Given the description of an element on the screen output the (x, y) to click on. 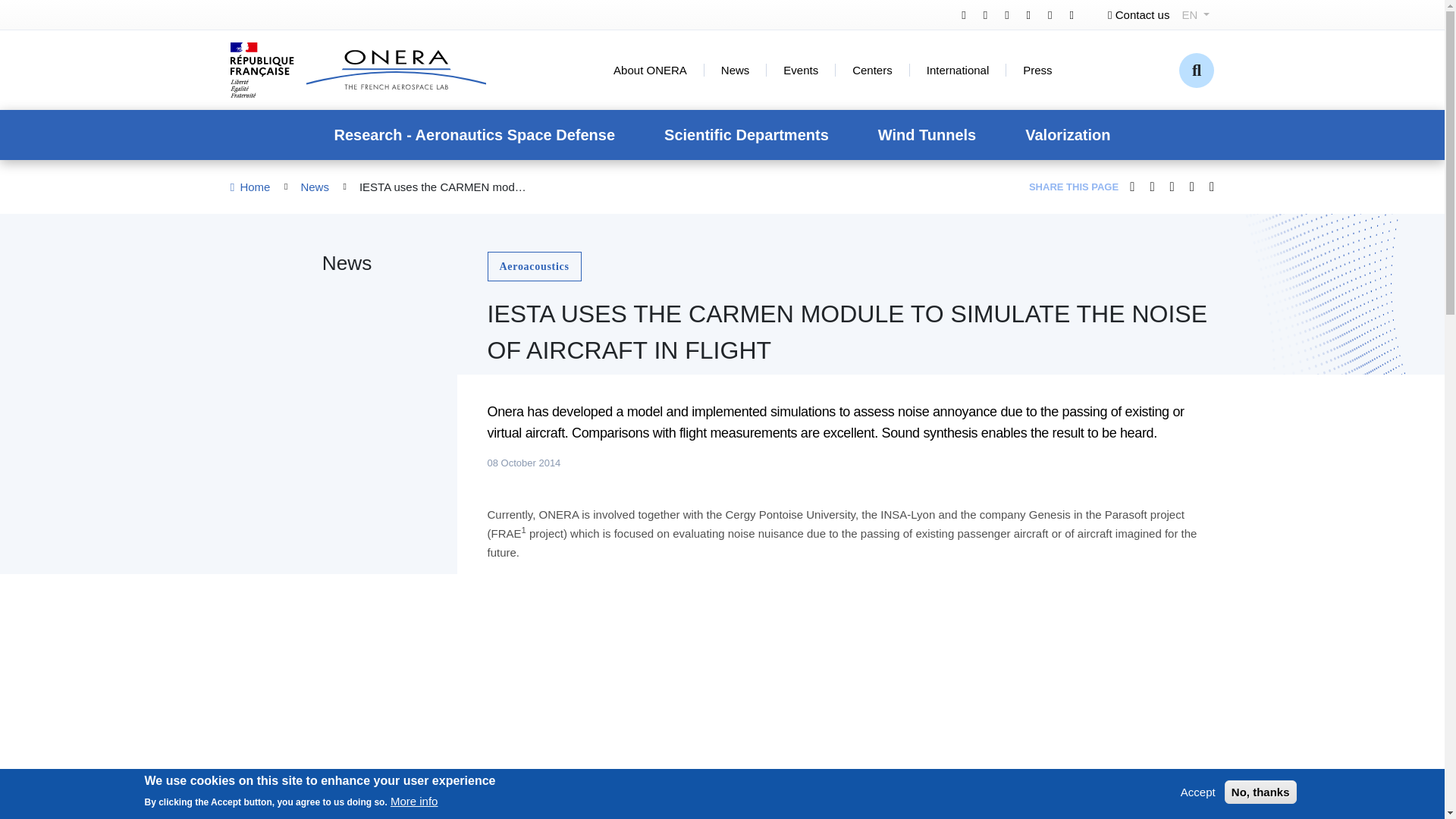
News (734, 69)
About ONERA (649, 69)
EN (1195, 14)
Research - Aeronautics Space Defense (474, 134)
Contact us (1138, 14)
Events (800, 69)
Centers (871, 69)
Press (1037, 69)
International (958, 69)
